Given the description of an element on the screen output the (x, y) to click on. 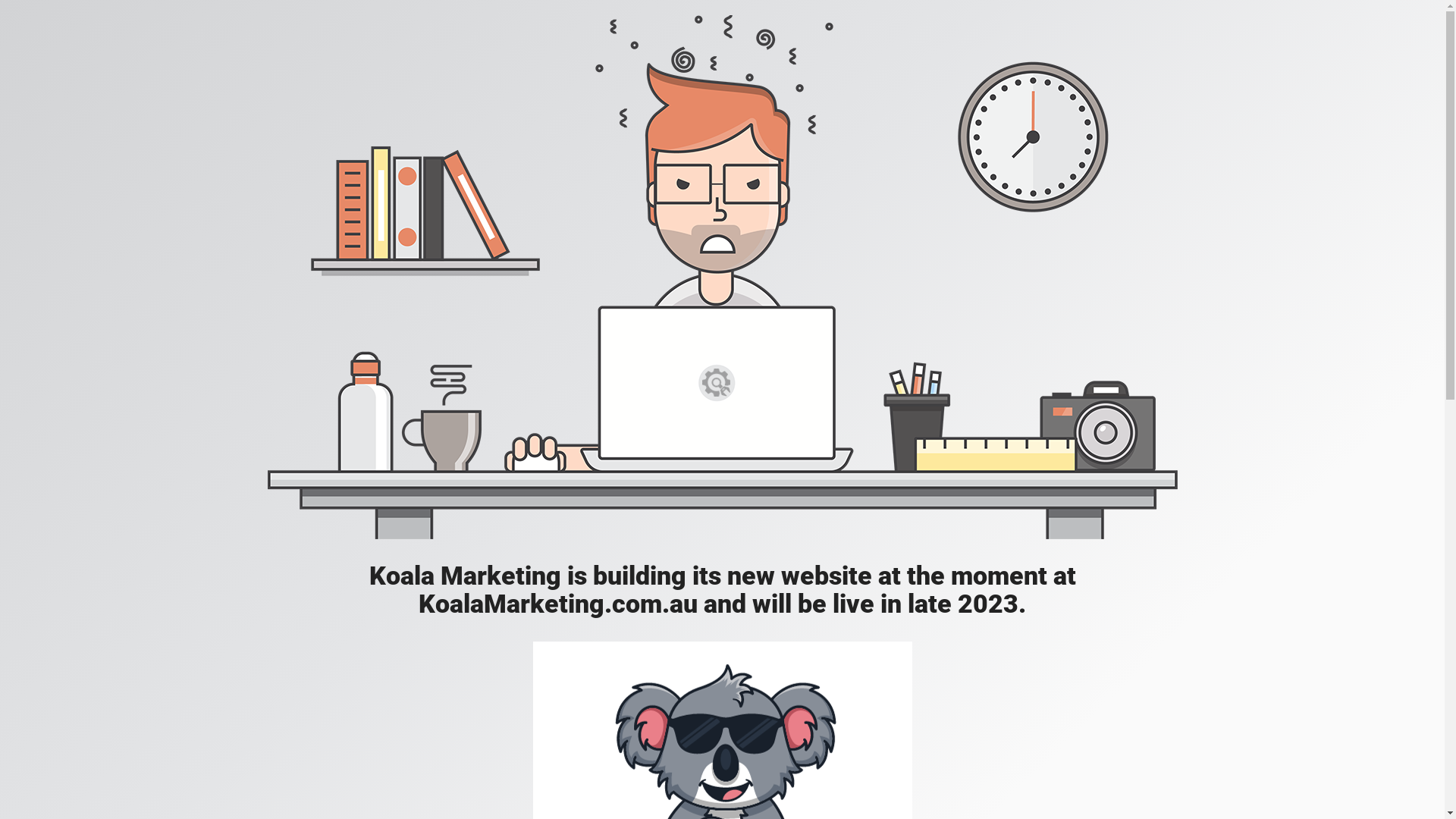
Mad Designer at work Element type: hover (721, 277)
